Given the description of an element on the screen output the (x, y) to click on. 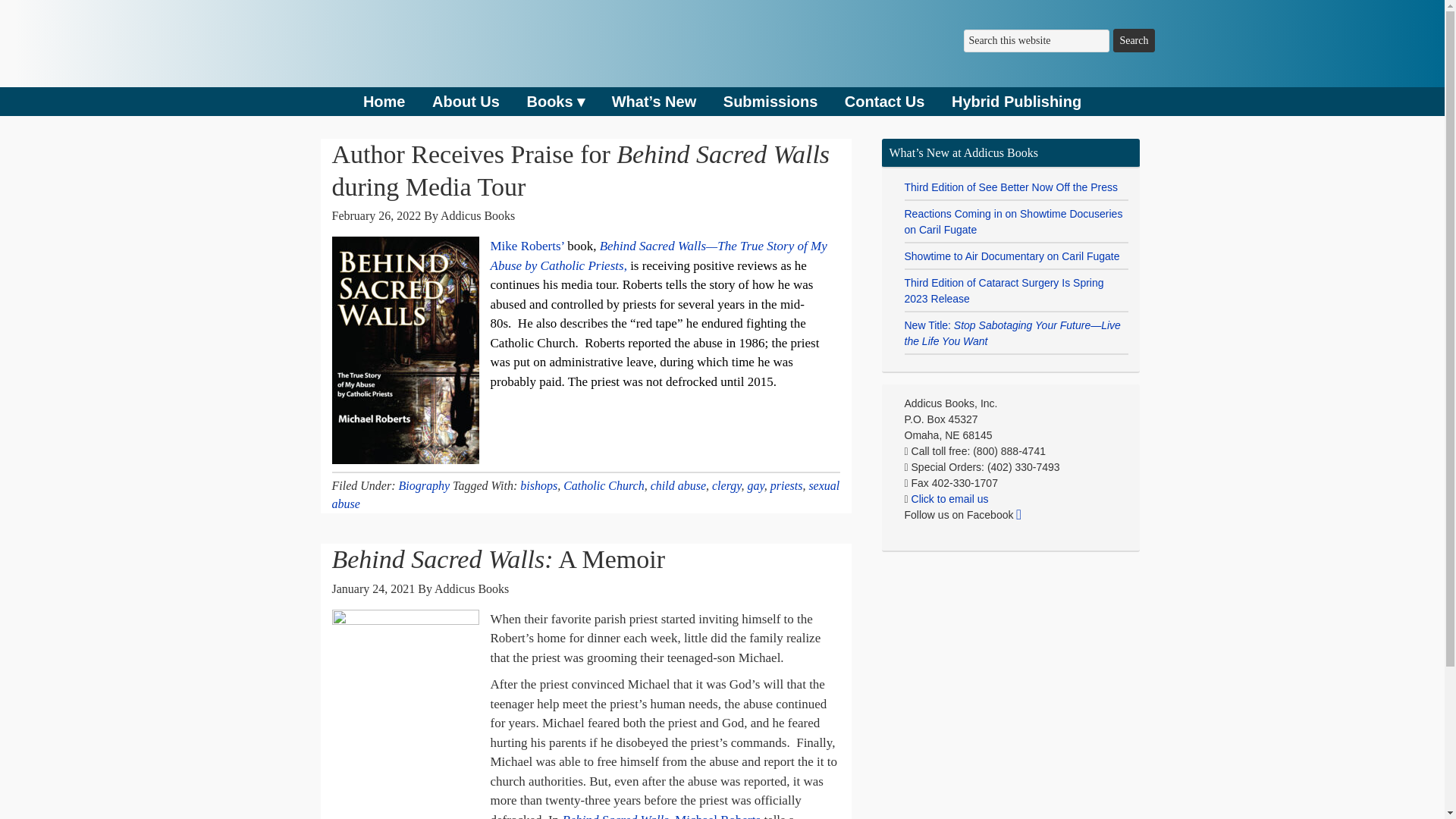
About Us (465, 101)
Search (1133, 40)
Search (1133, 40)
Hybrid Publishing (1016, 101)
Search (1133, 40)
clergy (726, 485)
bishops (538, 485)
Submissions (769, 101)
Behind Sacred Walls (613, 816)
Home (384, 101)
